Given the description of an element on the screen output the (x, y) to click on. 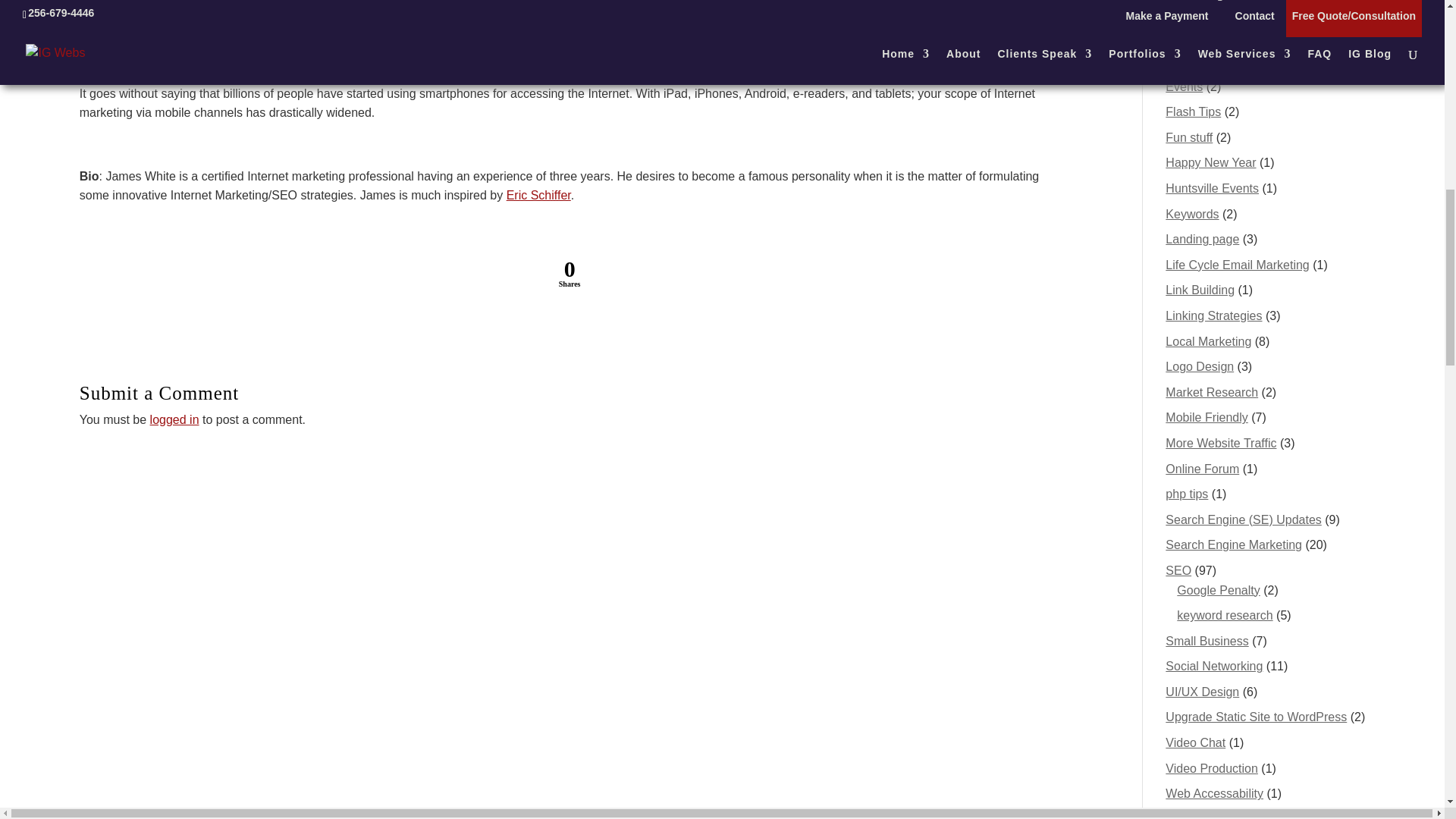
Eric Schiffer (538, 195)
